Given the description of an element on the screen output the (x, y) to click on. 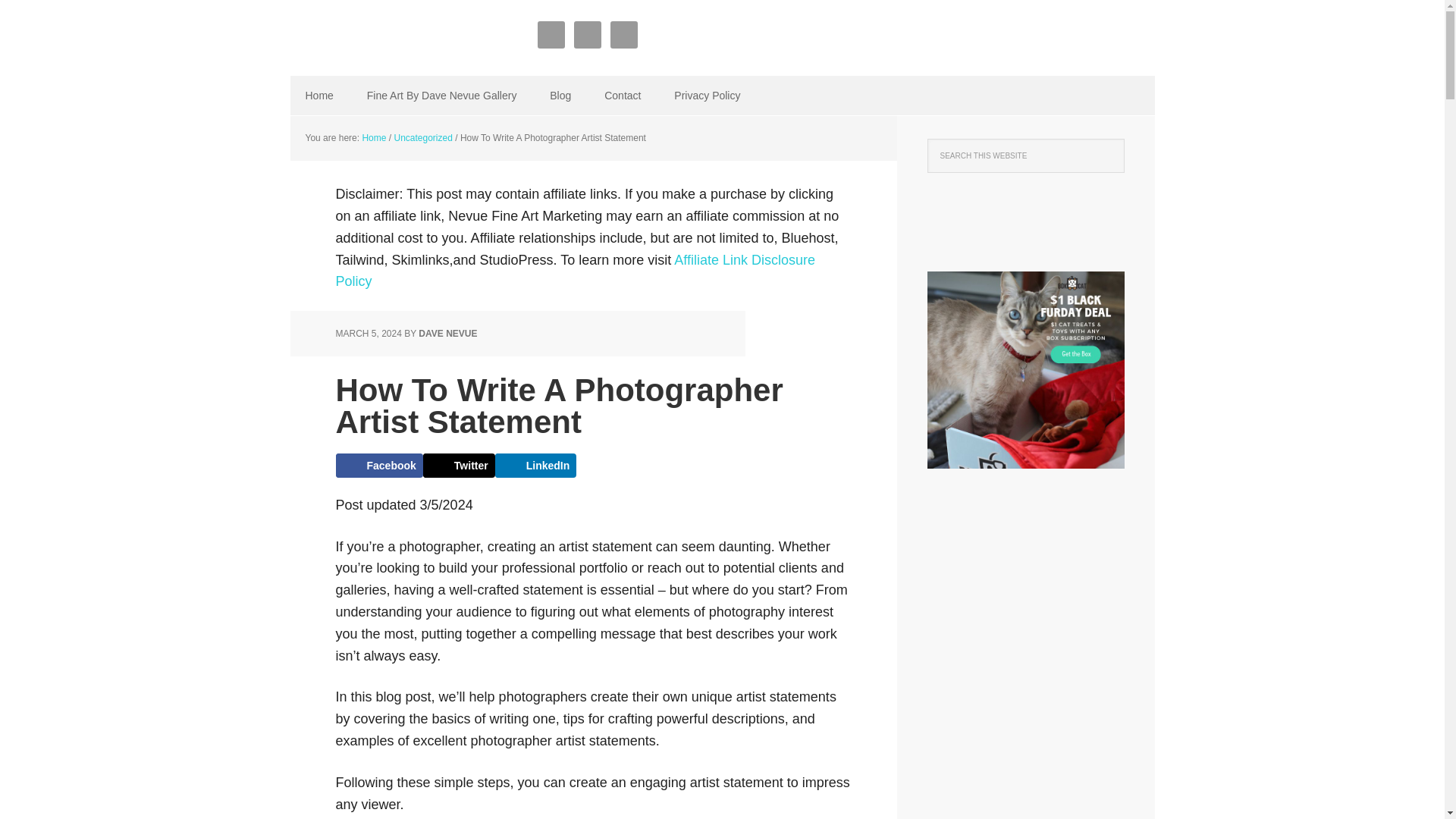
Share on X (459, 465)
DAVE NEVUE (448, 333)
Facebook (378, 465)
Twitter (459, 465)
Privacy Policy (707, 96)
Nevue Fine Art Marketing (387, 38)
Share on LinkedIn (535, 465)
Blog (560, 96)
Affiliate Link Disclosure Policy (574, 270)
